Given the description of an element on the screen output the (x, y) to click on. 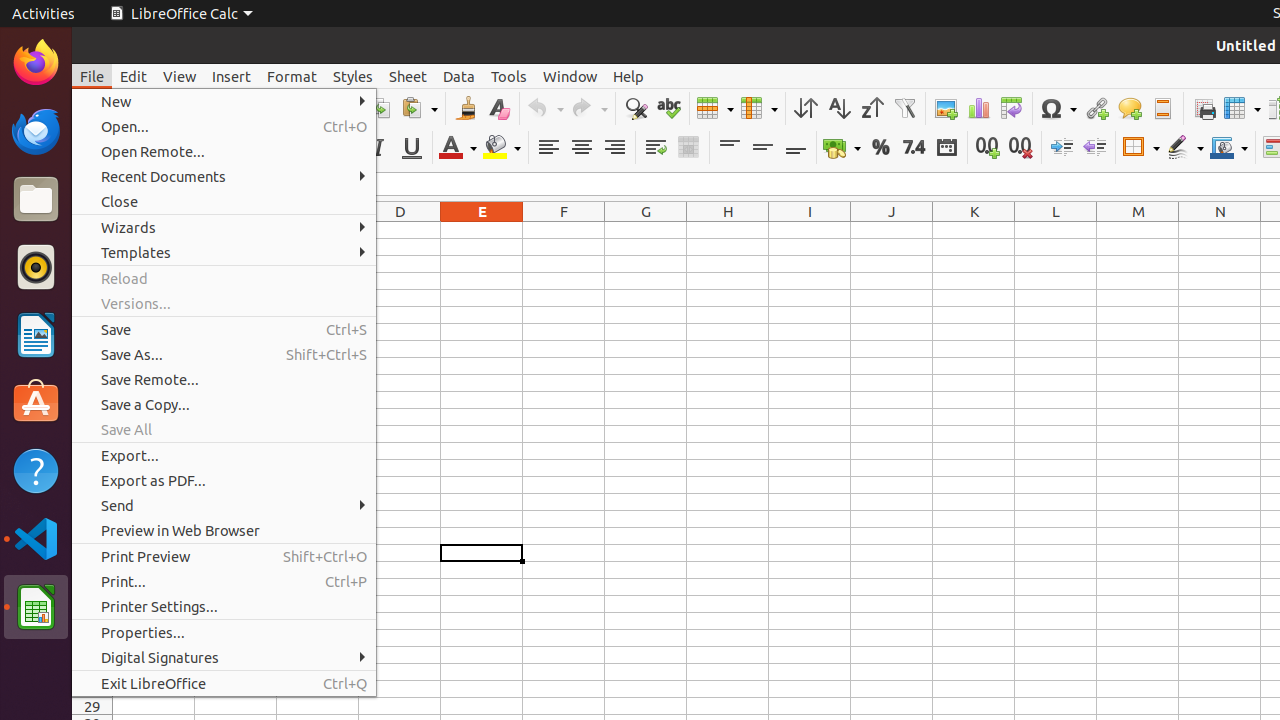
Save a Copy... Element type: menu-item (224, 404)
Save All Element type: menu-item (224, 429)
Edit Element type: menu (133, 76)
Decrease Element type: push-button (1094, 147)
Versions... Element type: menu-item (224, 303)
